Given the description of an element on the screen output the (x, y) to click on. 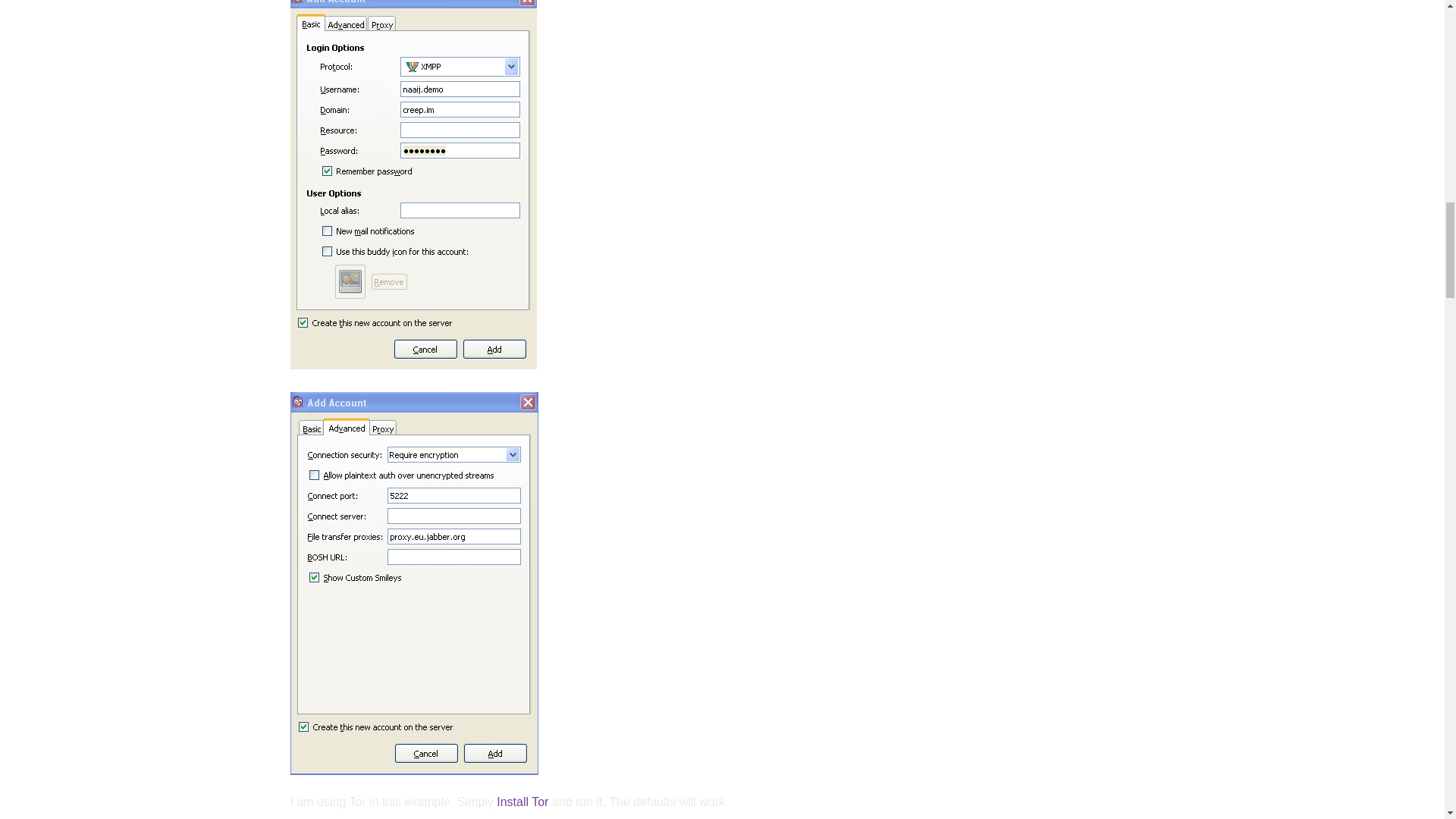
Install Tor (522, 801)
